Given the description of an element on the screen output the (x, y) to click on. 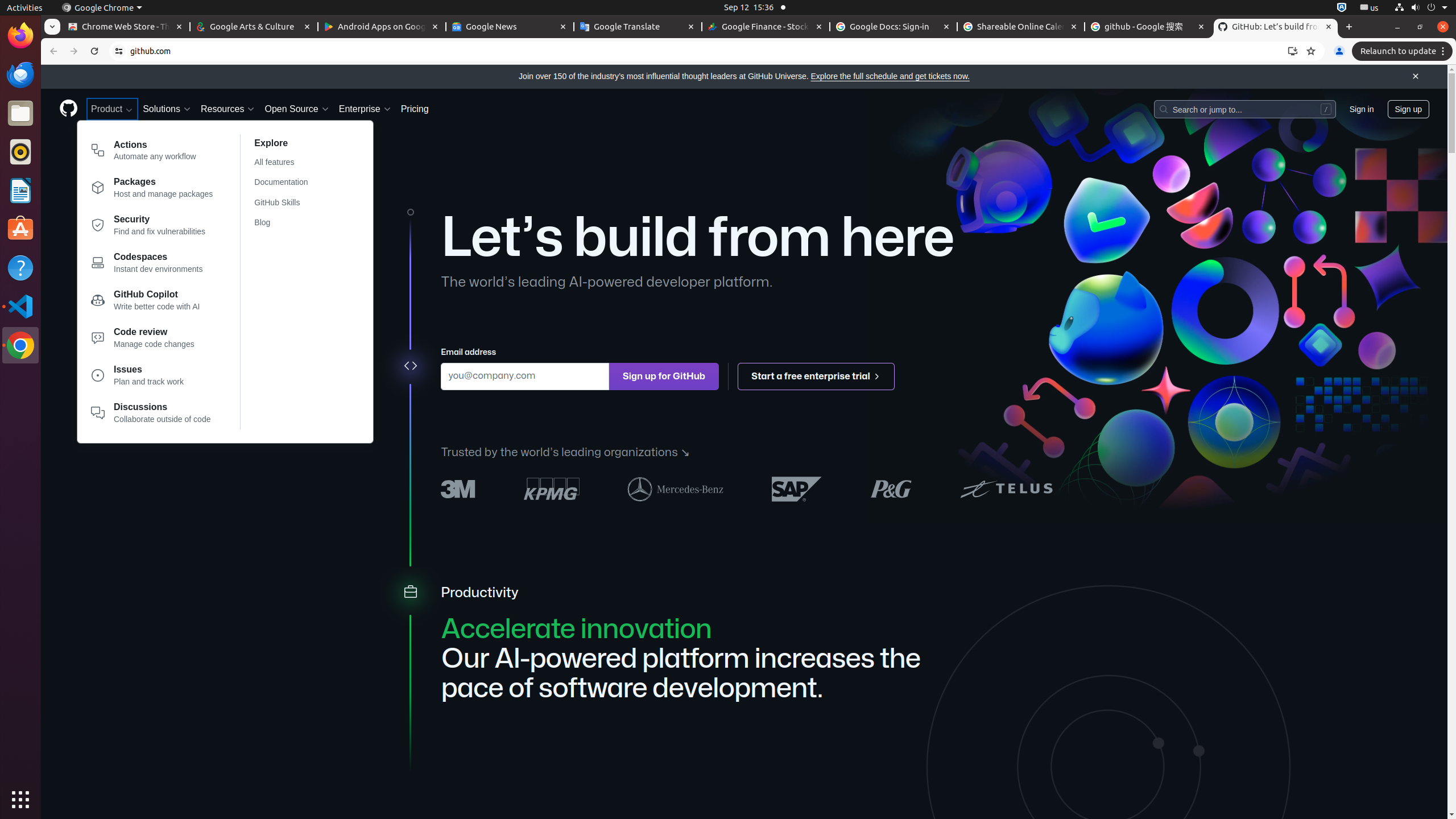
Files Element type: push-button (20, 113)
Search or jump to… Element type: push-button (1244, 108)
Code review Manage code changes Element type: link (152, 340)
Back Element type: push-button (51, 50)
Sign in Element type: link (1361, 108)
